Given the description of an element on the screen output the (x, y) to click on. 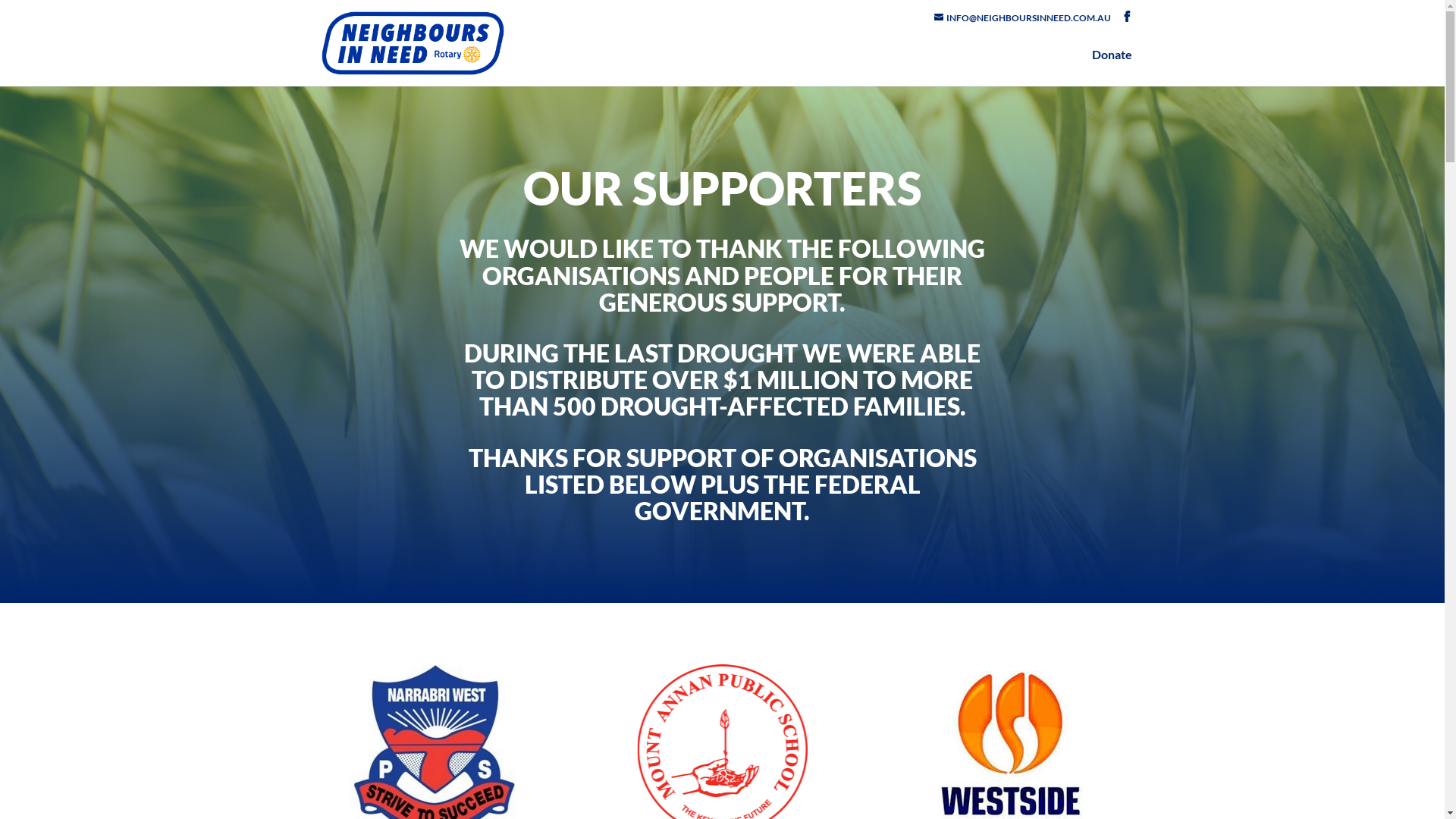
INFO@NEIGHBOURSINNEED.COM.AU Element type: text (1022, 17)
Donate Element type: text (1112, 67)
